Given the description of an element on the screen output the (x, y) to click on. 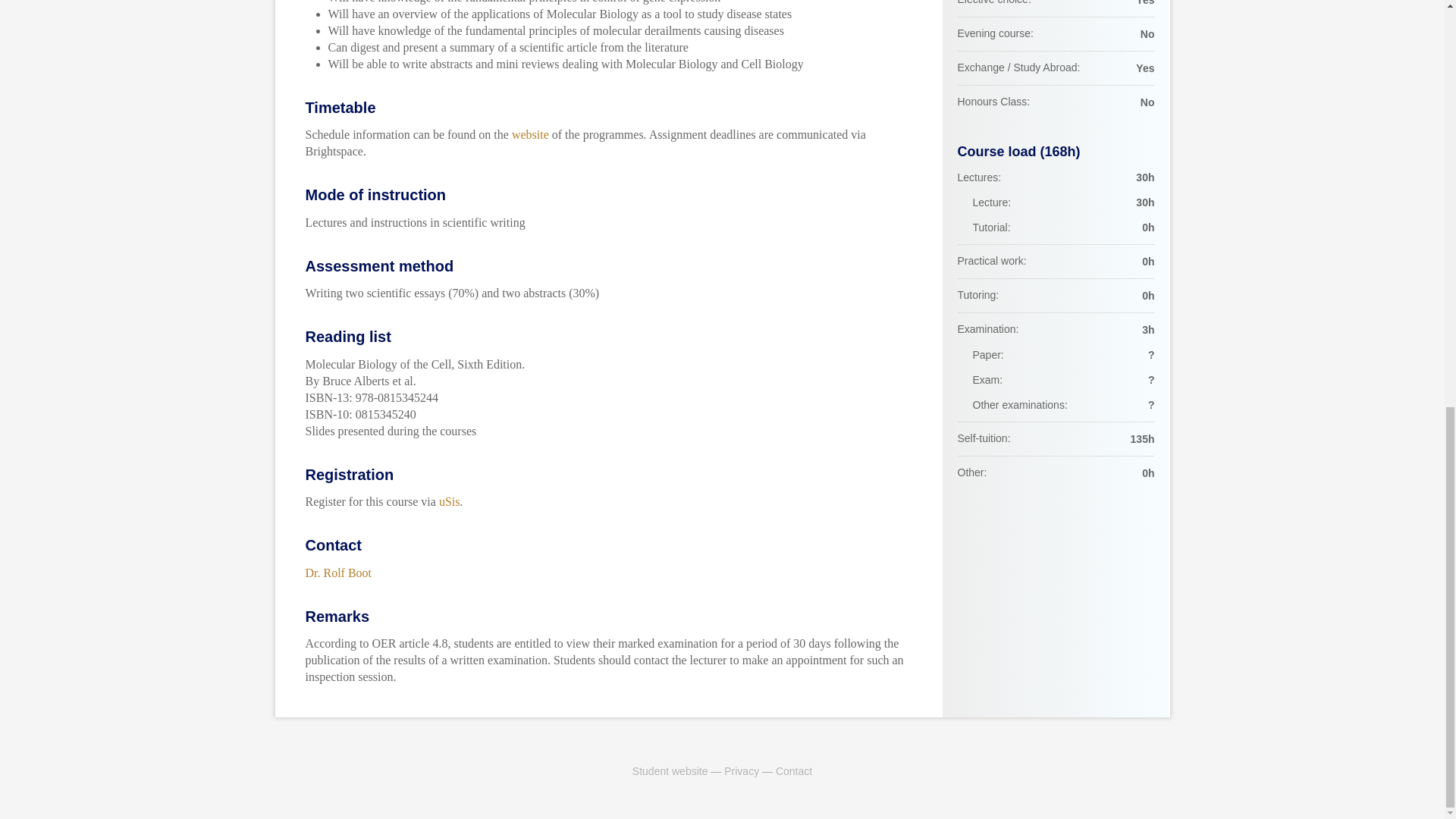
uSis (449, 501)
Student website (669, 770)
Dr. Rolf Boot (337, 572)
Privacy (740, 770)
Contact (794, 770)
website (530, 133)
